Given the description of an element on the screen output the (x, y) to click on. 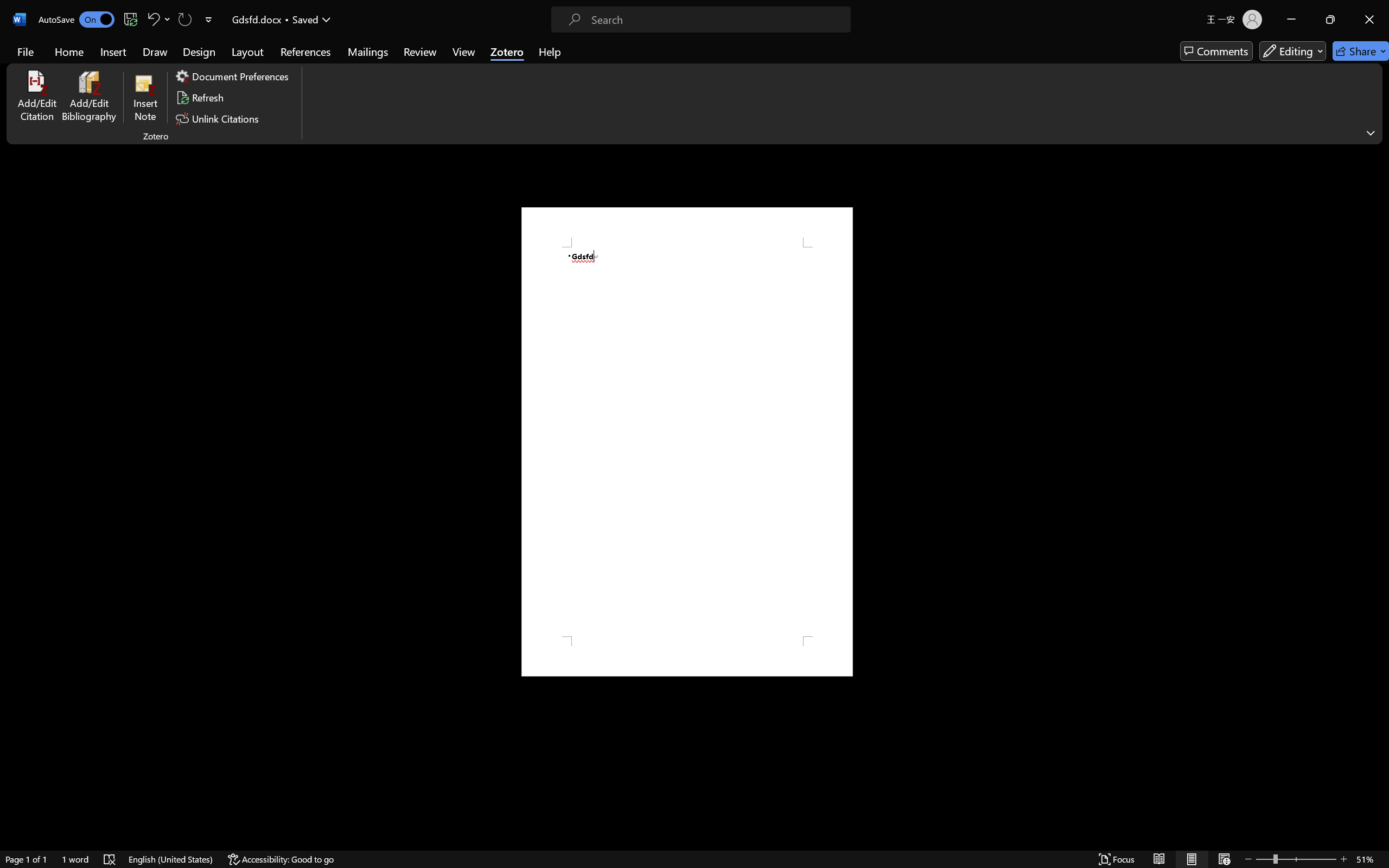
Page 1 content (686, 441)
